Given the description of an element on the screen output the (x, y) to click on. 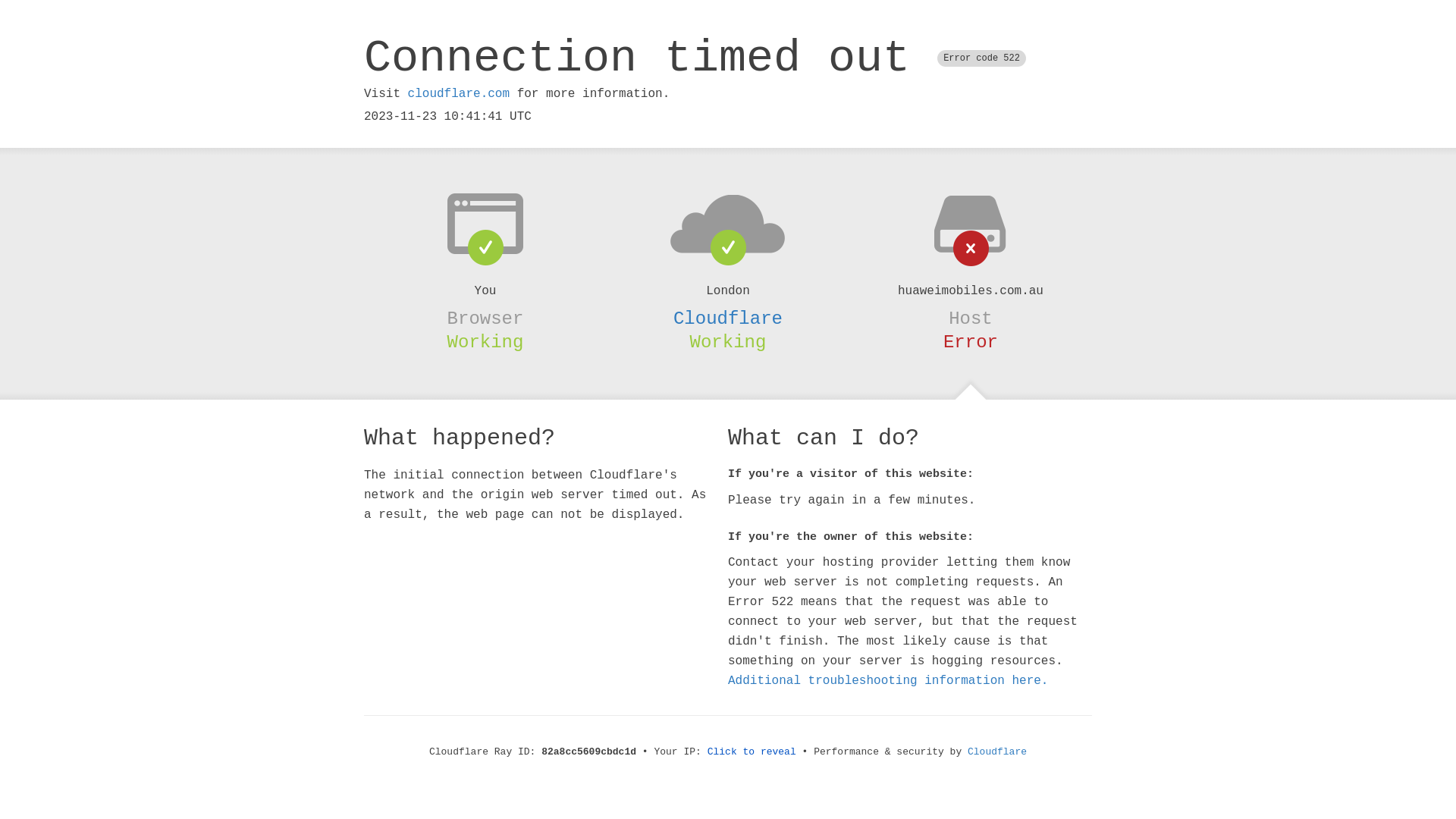
cloudflare.com Element type: text (458, 93)
Click to reveal Element type: text (751, 751)
Additional troubleshooting information here. Element type: text (888, 680)
Cloudflare Element type: text (727, 318)
Cloudflare Element type: text (996, 751)
